Given the description of an element on the screen output the (x, y) to click on. 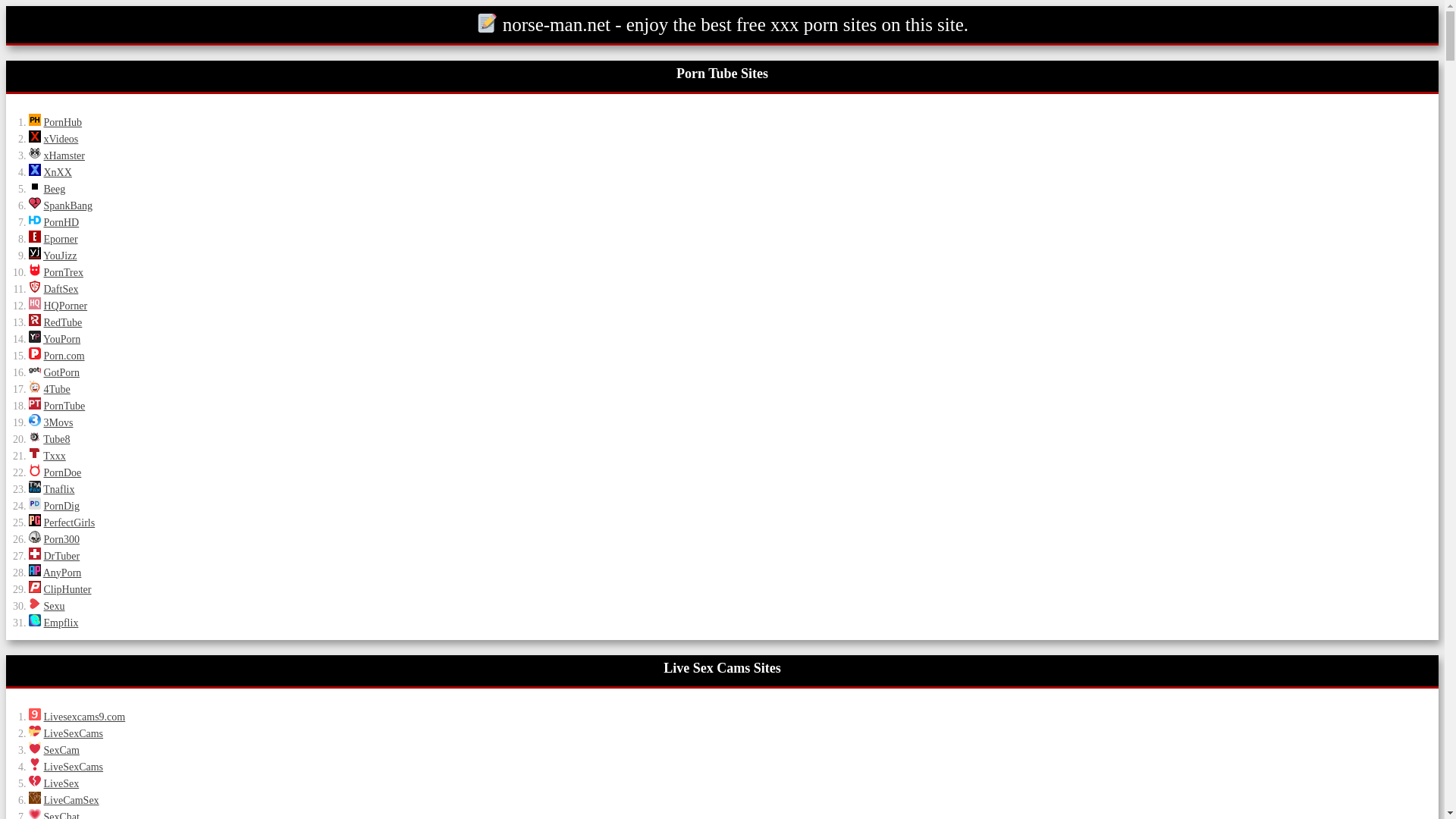
xHamster (63, 155)
PornHub (34, 119)
Eporner (60, 238)
SpankBang (68, 205)
SpankBang (34, 203)
xHamster (63, 155)
Tube8 (56, 439)
XnXX (34, 169)
PornHD (61, 222)
PornHD (34, 219)
SpankBang (68, 205)
PornHD (61, 222)
xHamster (34, 152)
XnXX (57, 172)
RedTube (62, 322)
